Given the description of an element on the screen output the (x, y) to click on. 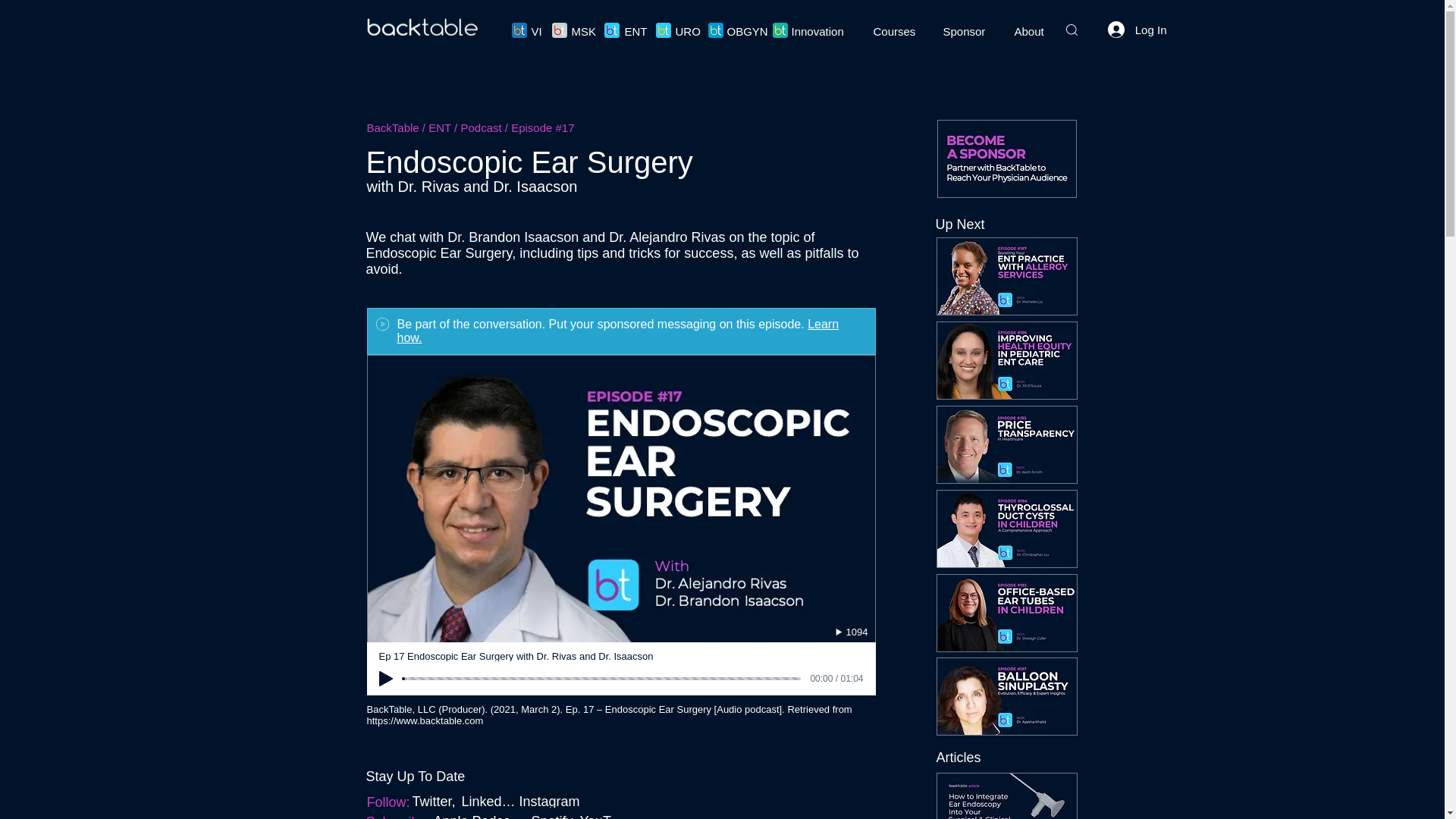
ENT (637, 31)
OBGYN (748, 31)
Boosting Your ENT Practice with Allergy Services (1006, 276)
Office-Based Ear Tubes in Children (1006, 612)
MSK (585, 31)
backtable-ent-sponsor-cta.jpg (1007, 158)
URO (689, 31)
Price Transparency in Healthcare (1006, 444)
